Given the description of an element on the screen output the (x, y) to click on. 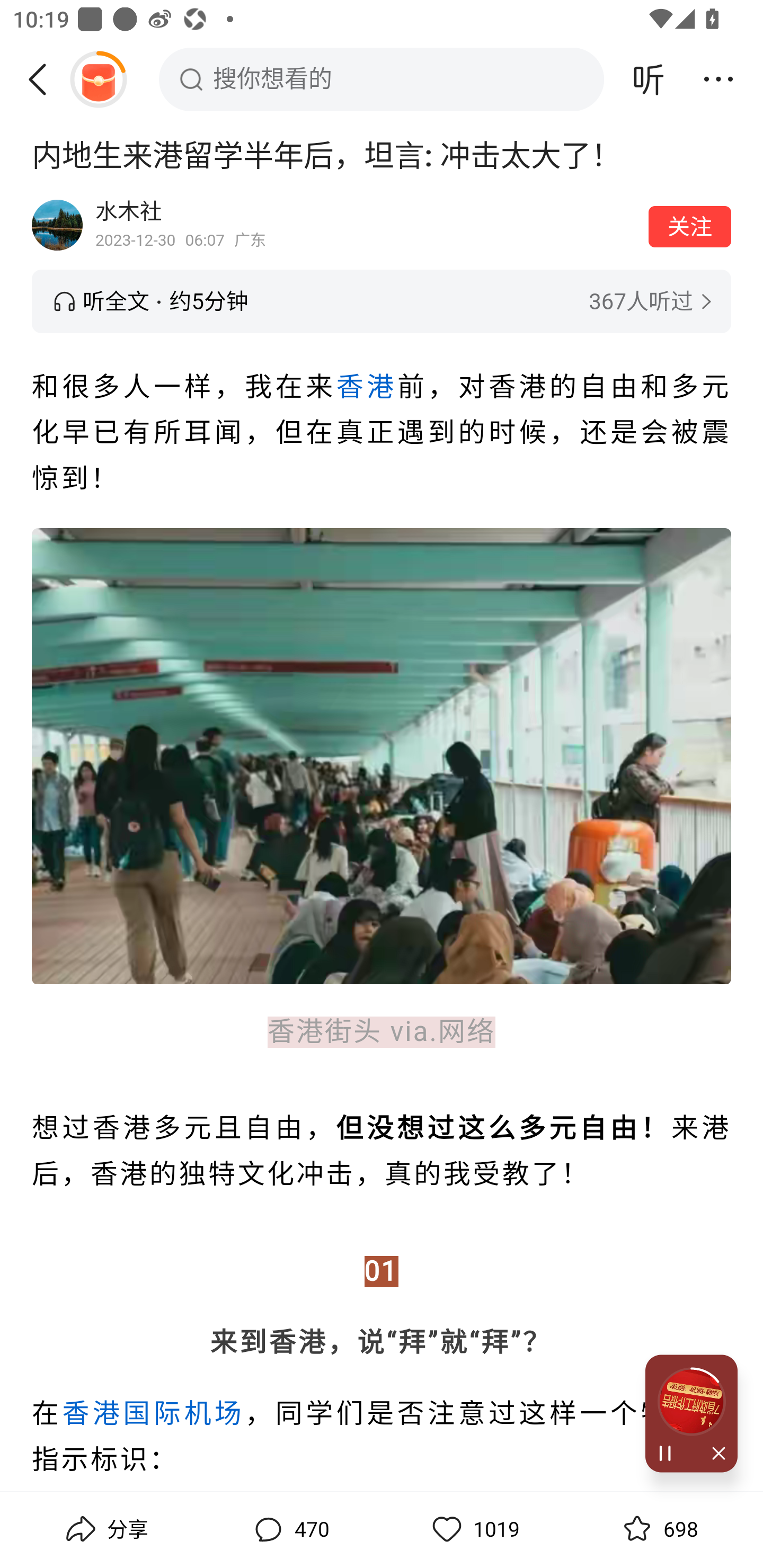
返回 (44, 78)
听头条 (648, 78)
更多操作 (718, 78)
搜你想看的 搜索框，搜你想看的 (381, 79)
阅读赚金币 (98, 79)
作者：水木社，2023-12-30 06:07发布，广东 (365, 224)
关注作者 (689, 226)
听全文 约5分钟 367人听过 (381, 300)
图片，点击识别内容 (381, 755)
当前进度 14% 暂停 关闭 (691, 1413)
暂停 (668, 1454)
关闭 (714, 1454)
分享 (104, 1529)
评论,470 470 (288, 1529)
收藏,698 698 (658, 1529)
